Given the description of an element on the screen output the (x, y) to click on. 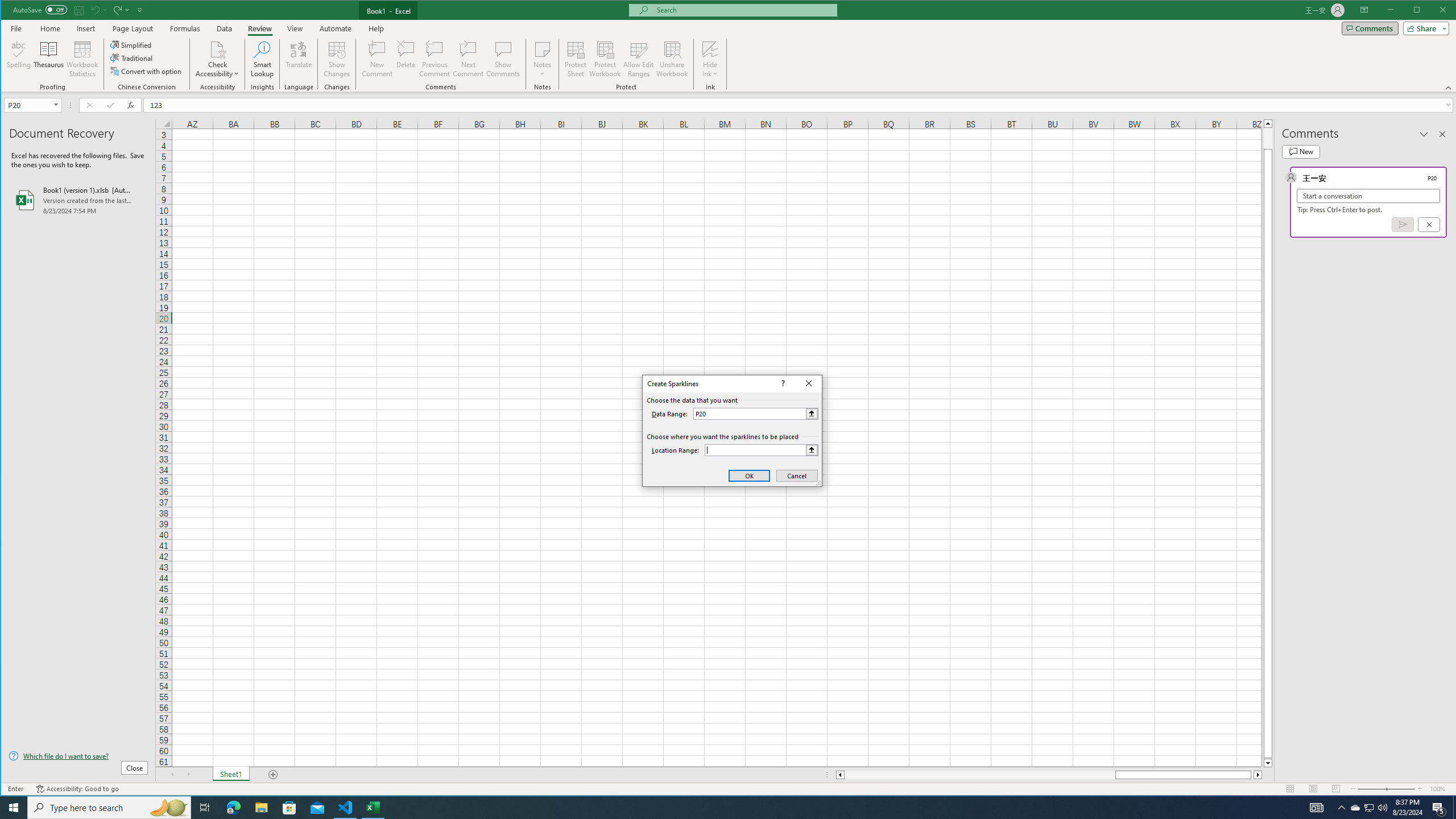
AutomationID: 4105 (1316, 807)
Thesaurus... (48, 59)
Convert with option (146, 70)
Show Changes (335, 59)
Page up (1267, 138)
